Given the description of an element on the screen output the (x, y) to click on. 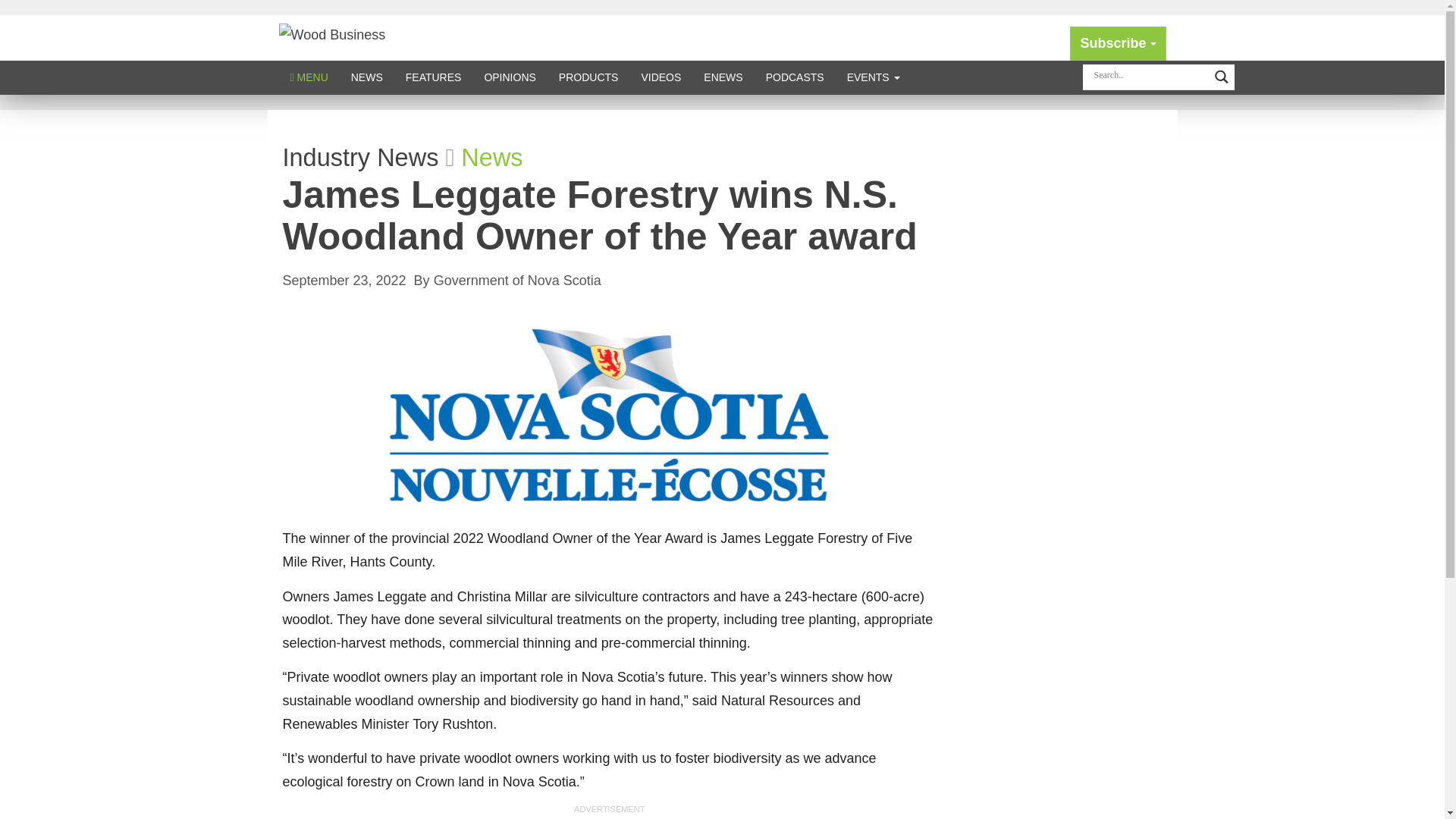
Click to show site navigation (309, 77)
PRODUCTS (588, 77)
MENU (309, 77)
NEWS (366, 77)
PODCASTS (794, 77)
OPINIONS (509, 77)
FEATURES (433, 77)
VIDEOS (660, 77)
ENEWS (723, 77)
Wood Business (332, 33)
Subscribe (1118, 43)
EVENTS (873, 77)
